Given the description of an element on the screen output the (x, y) to click on. 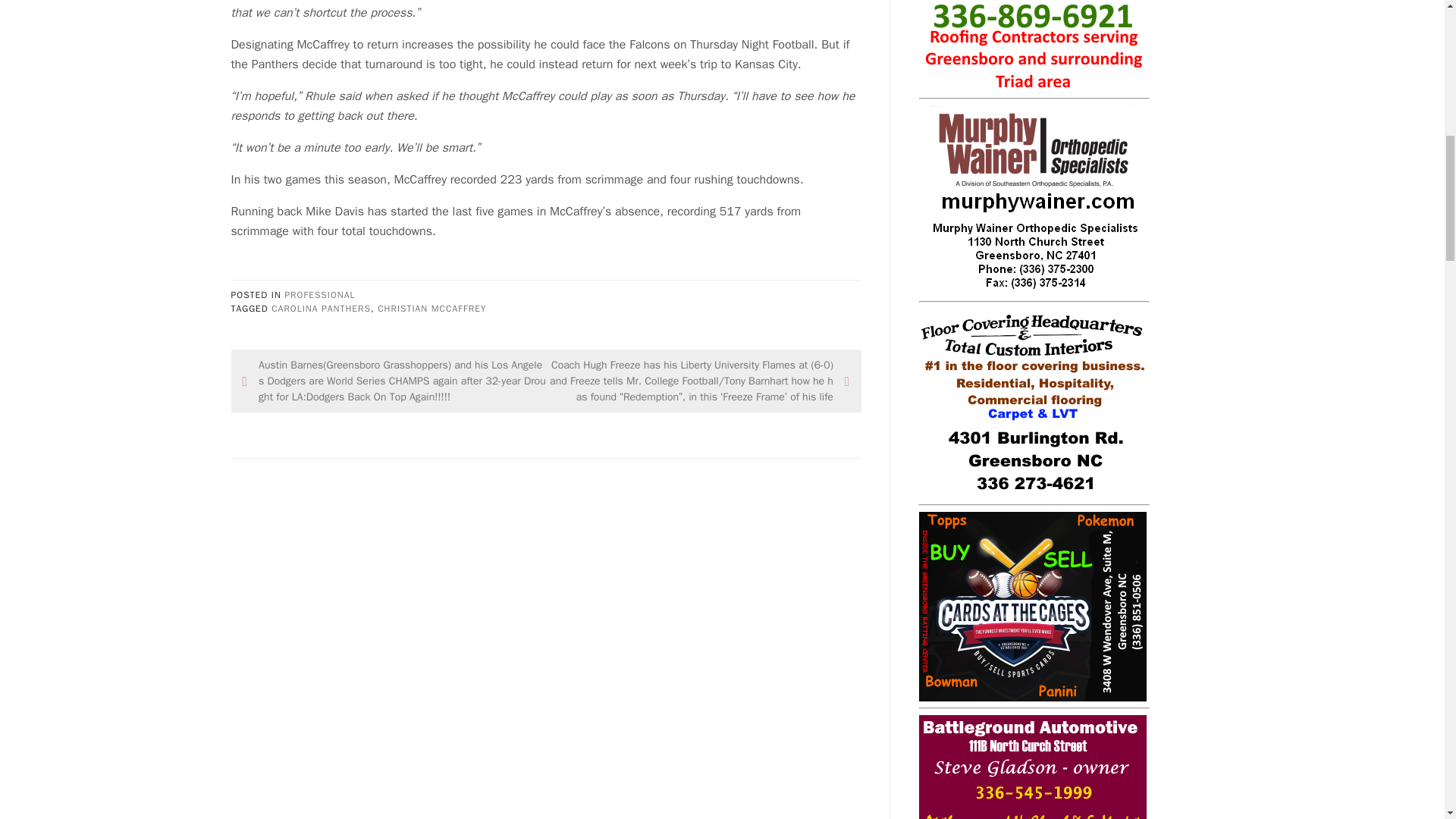
CAROLINA PANTHERS (320, 308)
PROFESSIONAL (319, 295)
CHRISTIAN MCCAFFREY (431, 308)
